Given the description of an element on the screen output the (x, y) to click on. 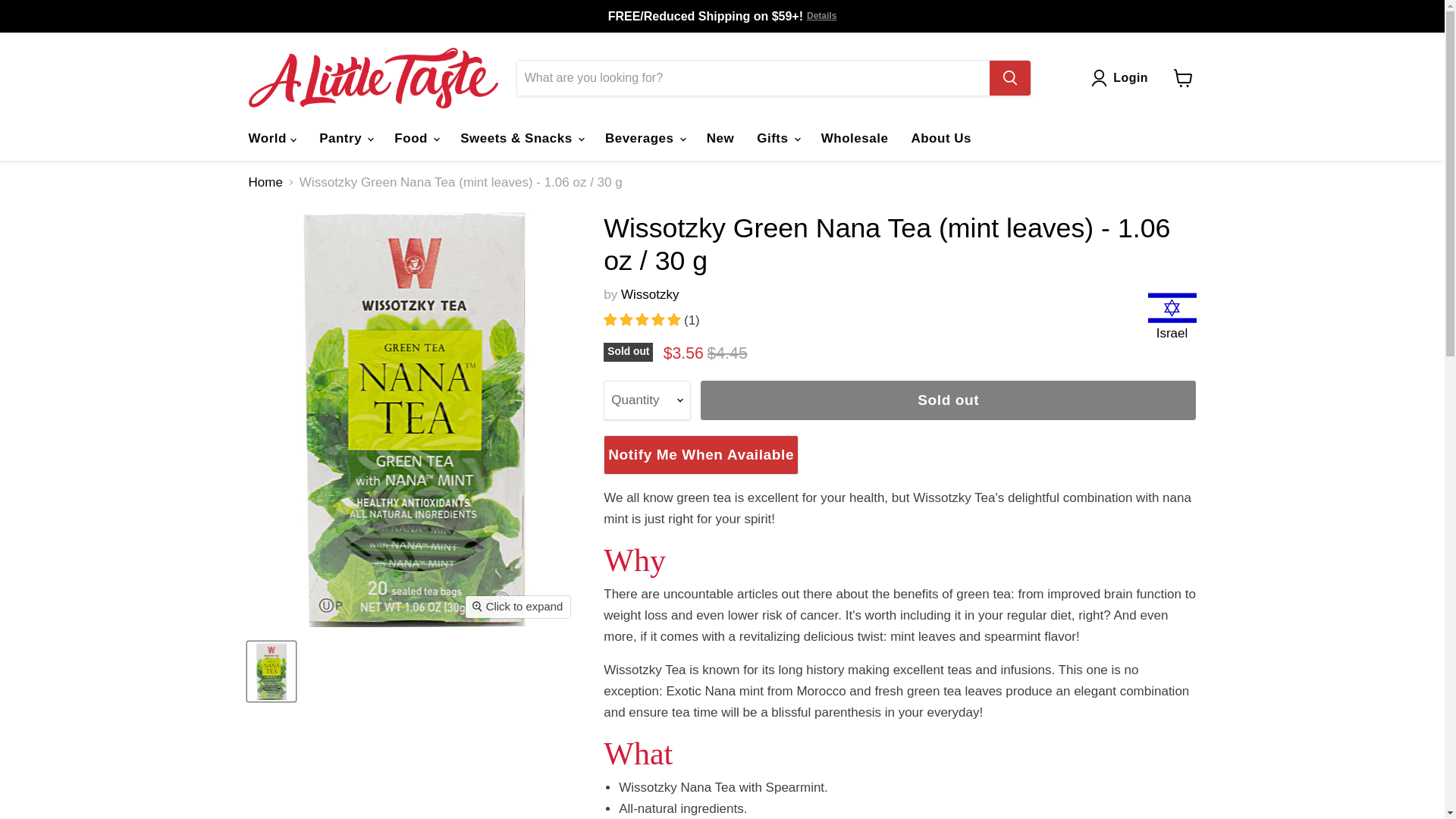
Israel (1172, 318)
View cart (1182, 78)
Wissotzky (650, 294)
Details (820, 16)
Login (1130, 77)
Israel (1172, 332)
